Given the description of an element on the screen output the (x, y) to click on. 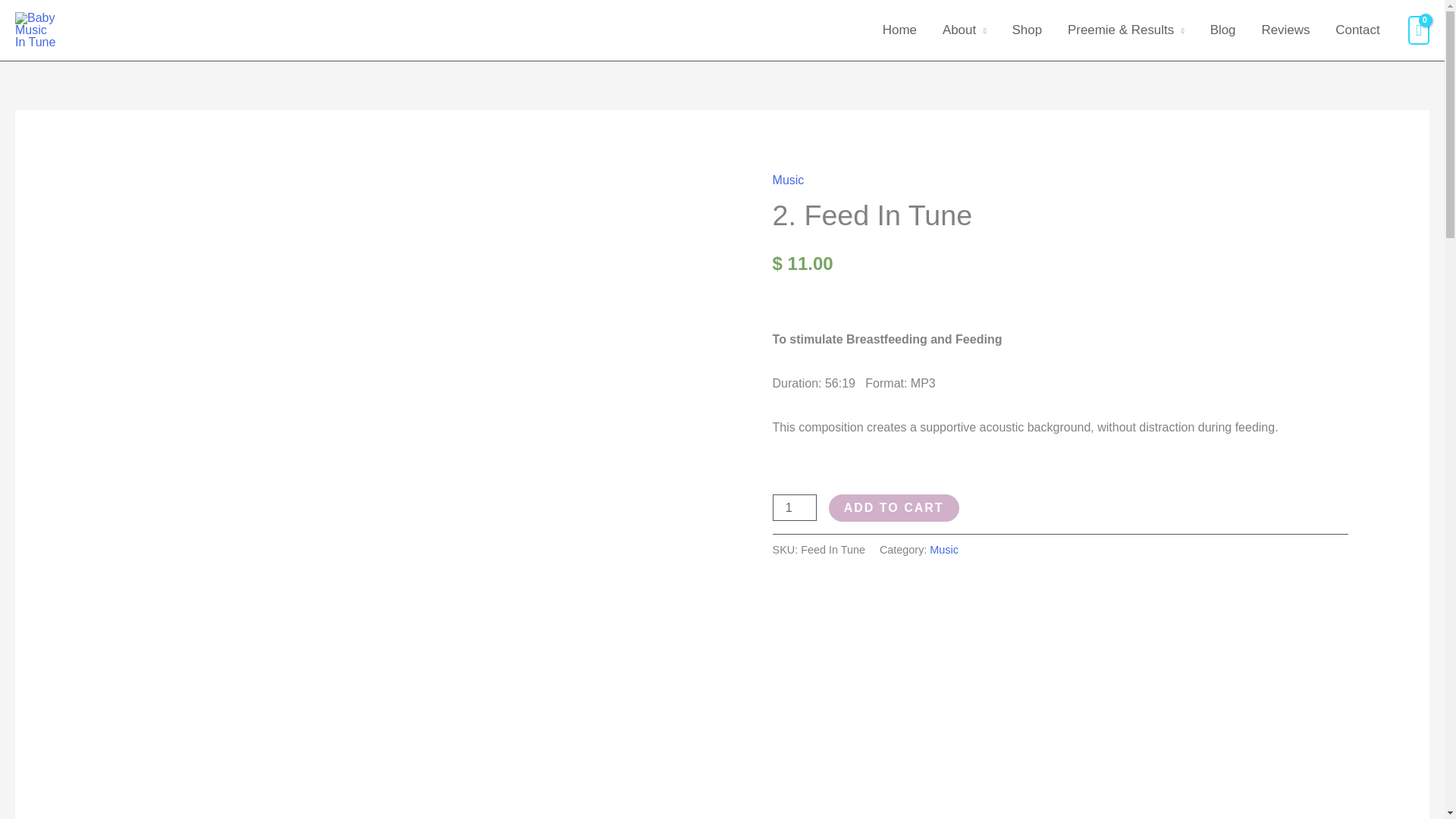
ADD TO CART (893, 507)
1 (794, 507)
Music (944, 549)
Home (899, 30)
Shop (1026, 30)
Blog (1222, 30)
Reviews (1284, 30)
Music (789, 179)
Contact (1356, 30)
Baby Music In Tune (137, 29)
